Given the description of an element on the screen output the (x, y) to click on. 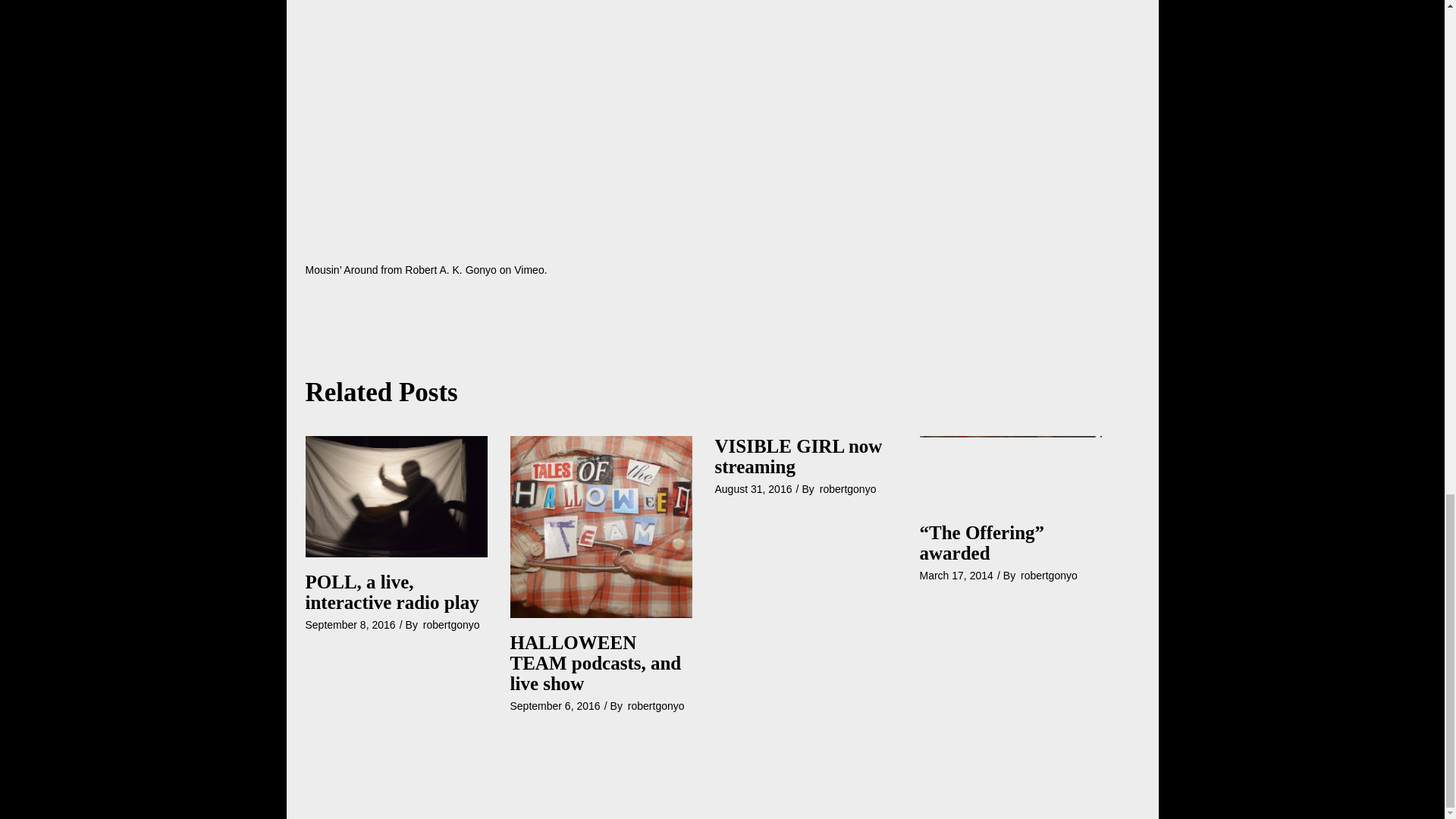
robertgonyo (451, 624)
HALLOWEEN TEAM podcasts, and live show (595, 662)
Robert A. K. Gonyo (450, 269)
Vimeo (528, 269)
September 8, 2016 (349, 624)
March 17, 2014 (955, 575)
August 31, 2016 (753, 489)
POLL, a live, interactive radio play (391, 591)
HALLOWEEN TEAM podcasts, and live show (600, 526)
VISIBLE GIRL now streaming (798, 455)
